Given the description of an element on the screen output the (x, y) to click on. 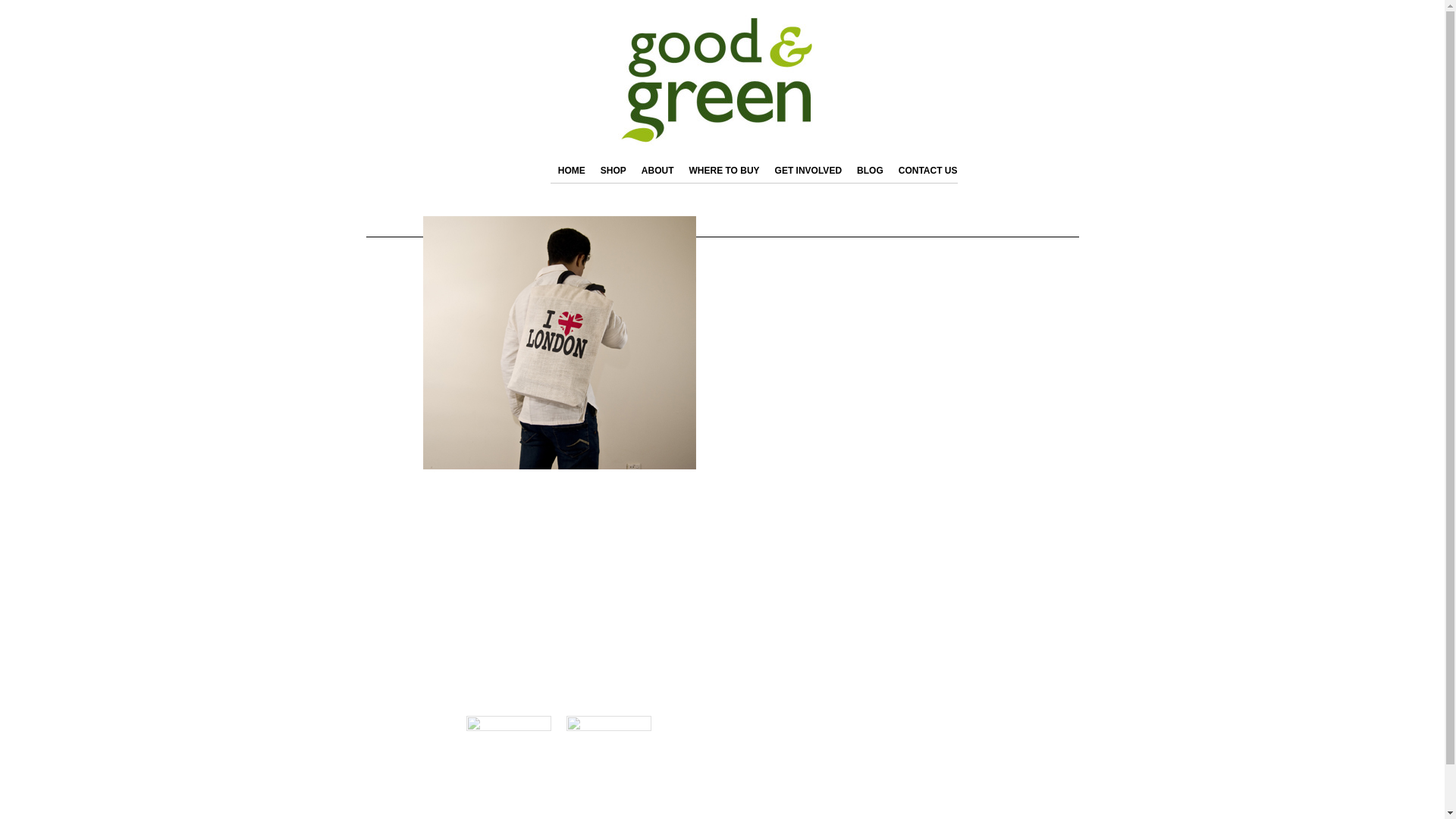
BLOG (869, 170)
WHERE TO BUY (724, 170)
CONTACT US (928, 170)
ABOUT (657, 170)
GET INVOLVED (807, 170)
SHOP (612, 170)
HOME (571, 170)
